Given the description of an element on the screen output the (x, y) to click on. 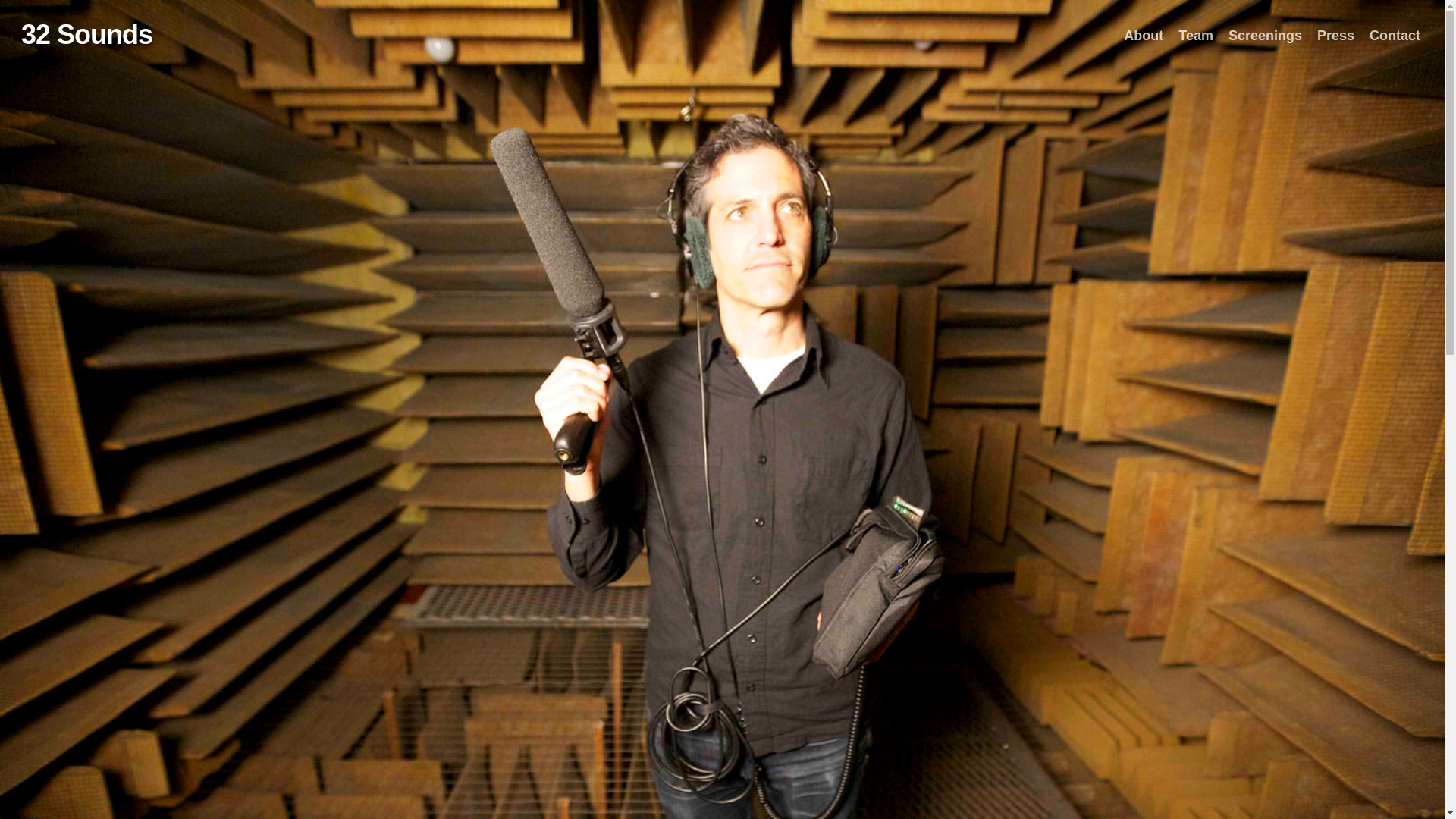
Team Element type: text (1195, 35)
32 Sounds Element type: text (86, 34)
Screenings Element type: text (1265, 35)
Contact Element type: text (1394, 35)
Press Element type: text (1335, 35)
About Element type: text (1143, 35)
